Given the description of an element on the screen output the (x, y) to click on. 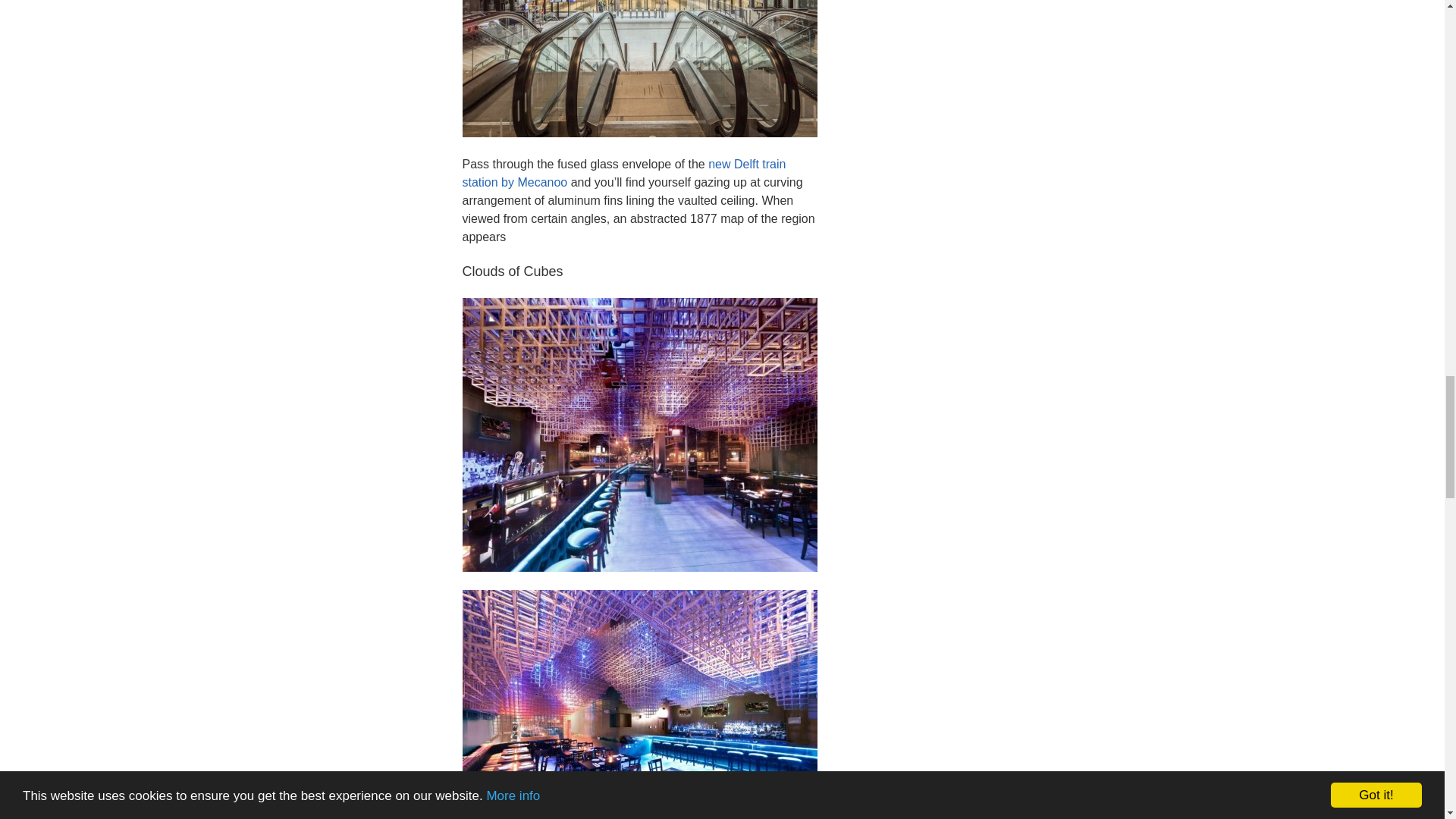
new Delft train station by Mecanoo (624, 173)
